Given the description of an element on the screen output the (x, y) to click on. 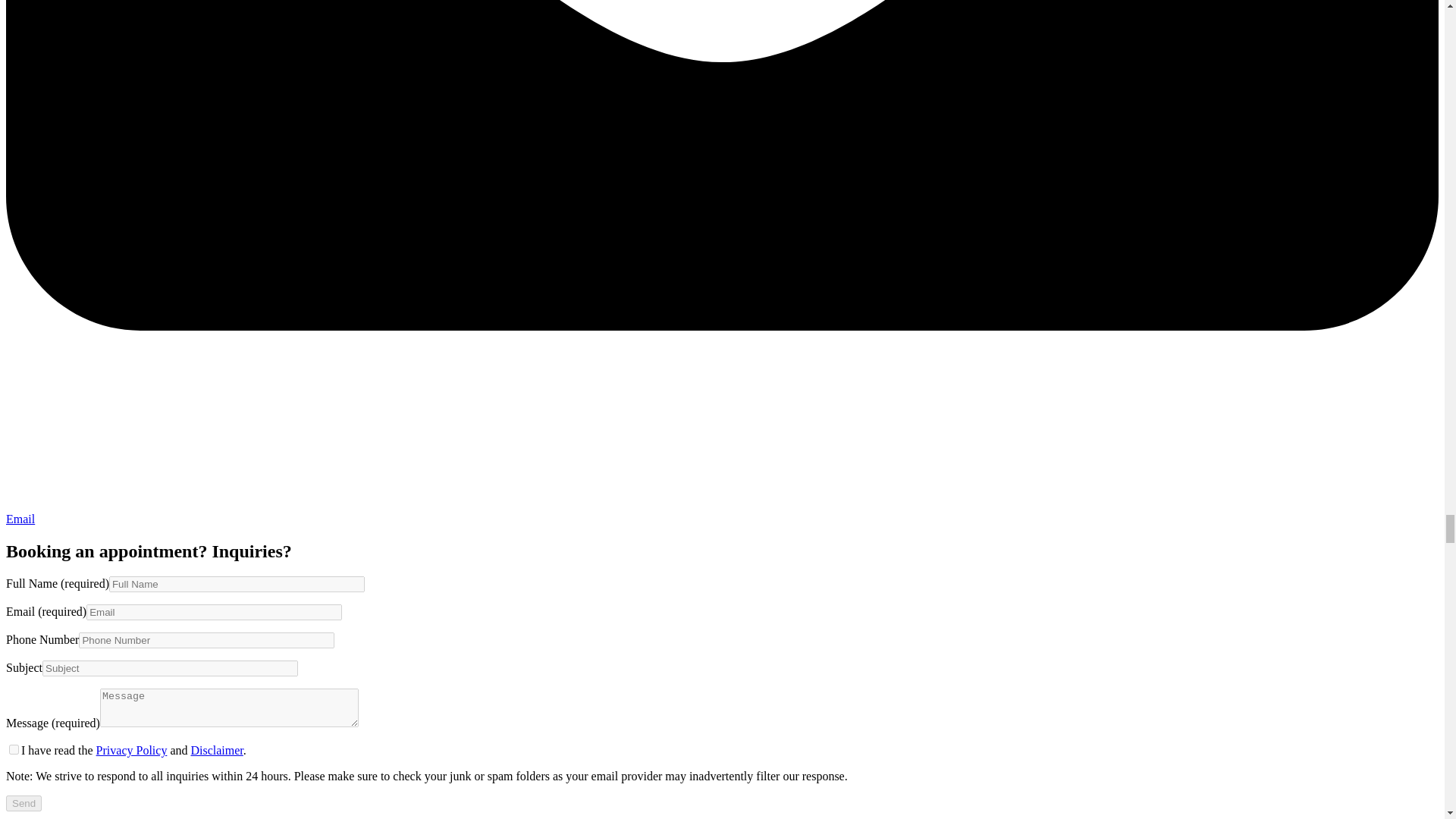
Send (23, 803)
1 (13, 749)
